Given the description of an element on the screen output the (x, y) to click on. 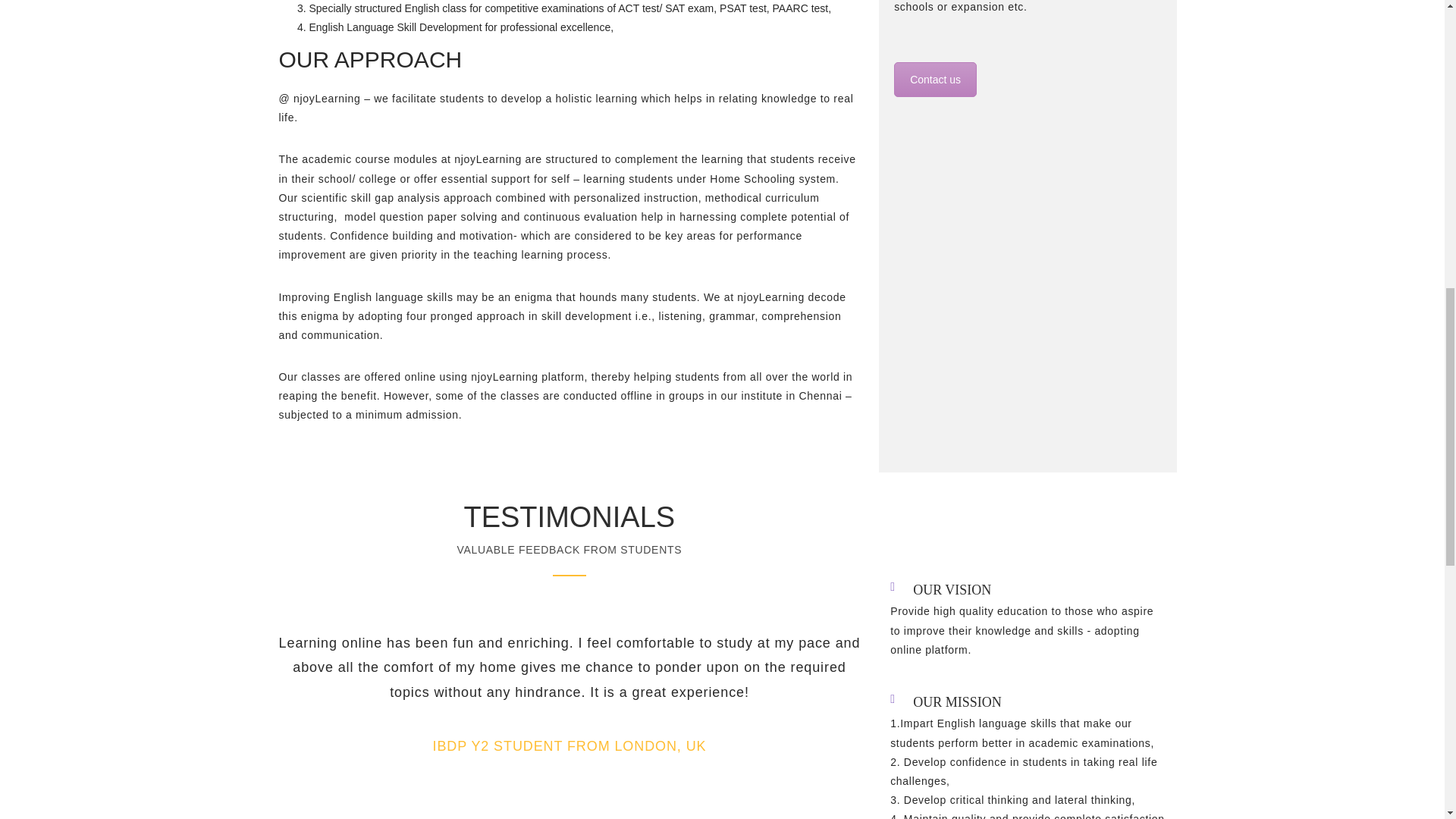
OUR MISSION (956, 702)
OUR VISION (951, 589)
Contact us (934, 79)
OUR MISSION (956, 702)
OUR VISION (951, 589)
